Given the description of an element on the screen output the (x, y) to click on. 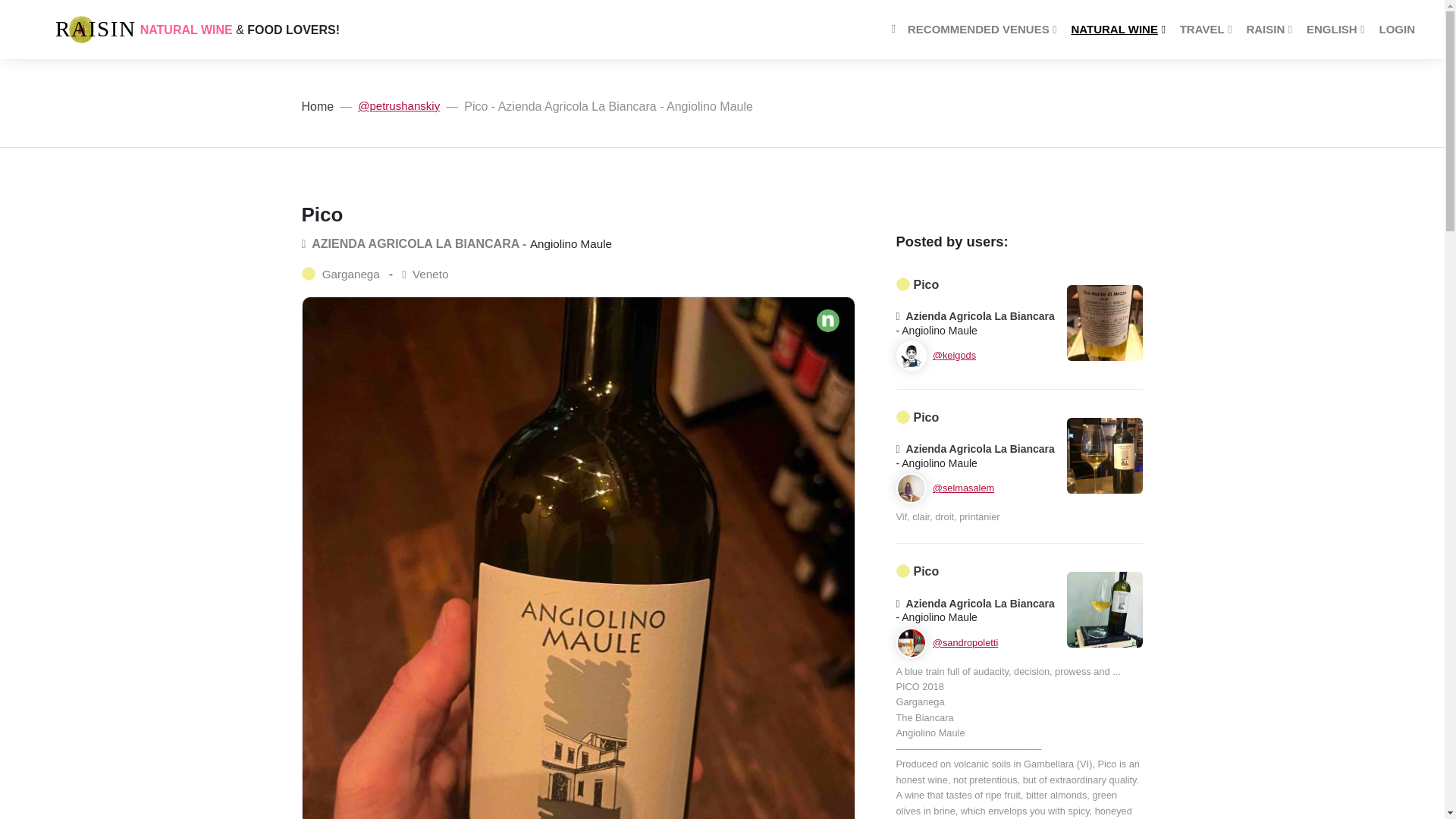
TRAVEL (1206, 29)
AZIENDA AGRICOLA LA BIANCARA - Angiolino Maule (456, 243)
LOGIN (1397, 29)
RAISIN (1270, 29)
NATURAL WINE (1118, 29)
RECOMMENDED VENUES (982, 29)
Home (317, 107)
RAISIN (81, 29)
ENGLISH (1336, 29)
